Given the description of an element on the screen output the (x, y) to click on. 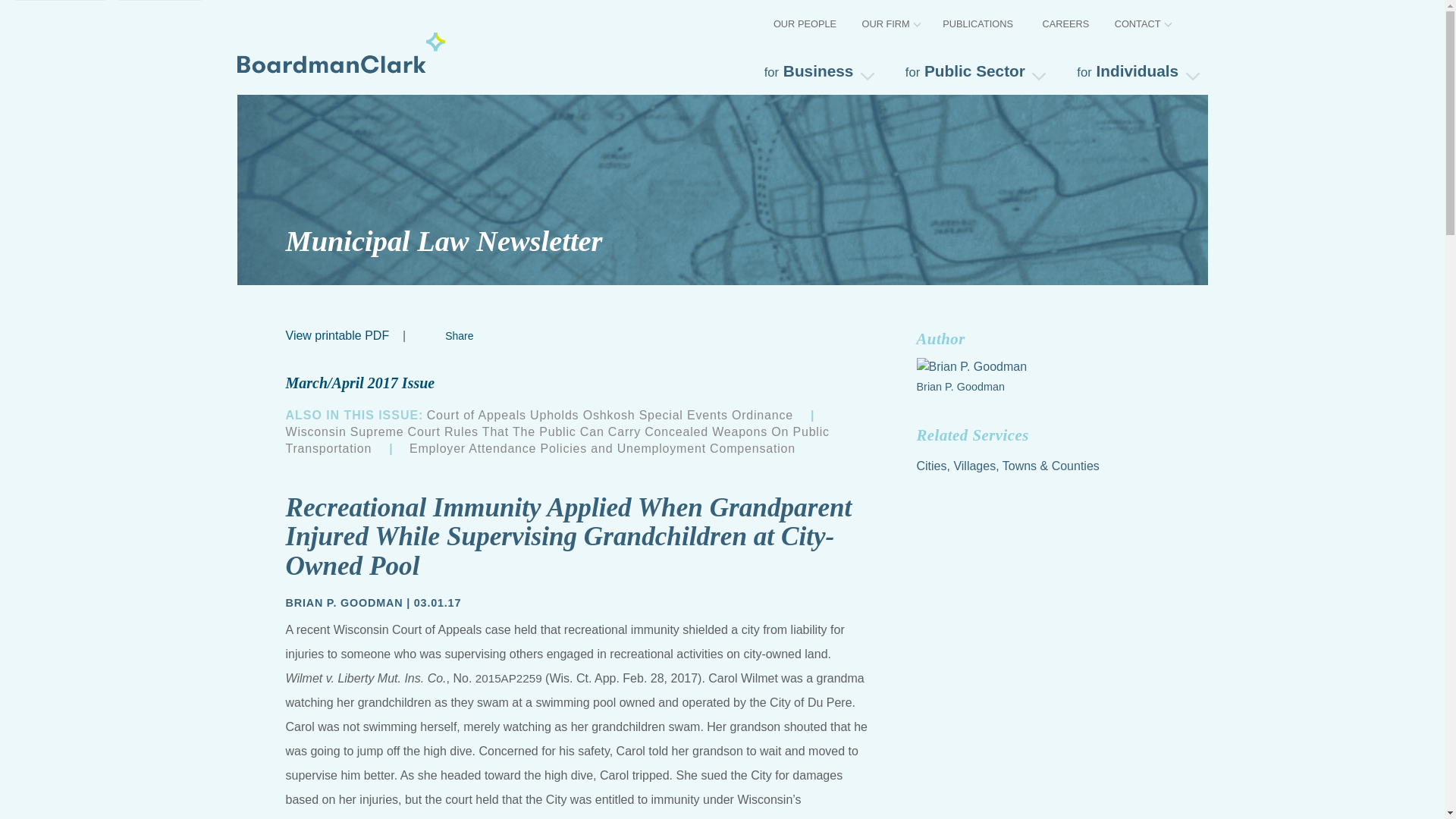
search (1192, 21)
LinkedIn (449, 335)
for Individuals (1135, 71)
Boardman Clark Law Firm (340, 52)
Brian P. Goodman (984, 386)
author.title (344, 602)
for Business (817, 71)
for Public Sector (973, 71)
